Given the description of an element on the screen output the (x, y) to click on. 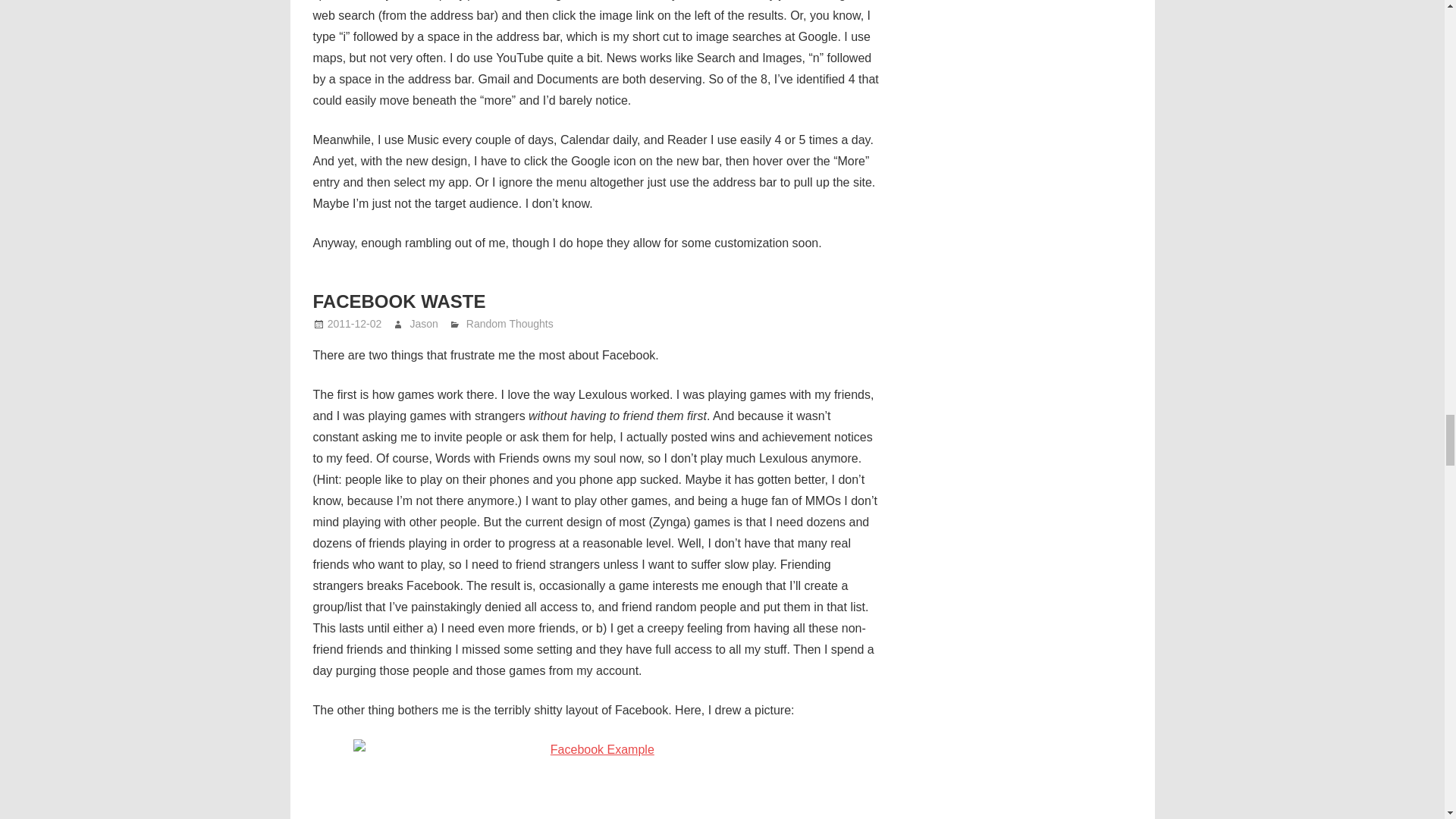
Facebook Example (595, 779)
10:10:32 (354, 323)
View all posts by Jason (423, 323)
